Given the description of an element on the screen output the (x, y) to click on. 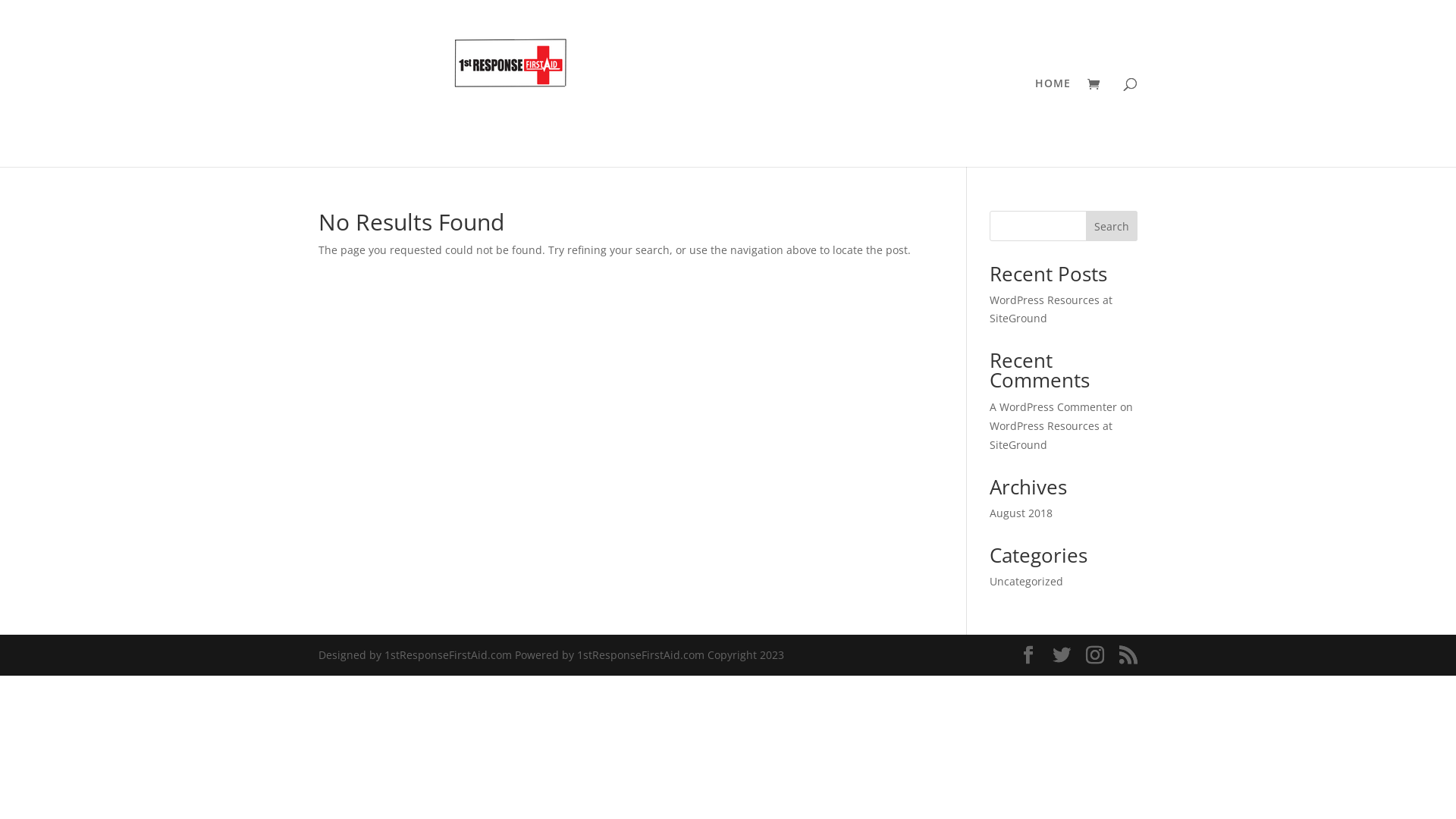
Search Element type: text (1111, 225)
Uncategorized Element type: text (1026, 581)
WordPress Resources at SiteGround Element type: text (1050, 434)
WordPress Resources at SiteGround Element type: text (1050, 308)
A WordPress Commenter Element type: text (1053, 406)
August 2018 Element type: text (1020, 512)
HOME Element type: text (1052, 122)
